Given the description of an element on the screen output the (x, y) to click on. 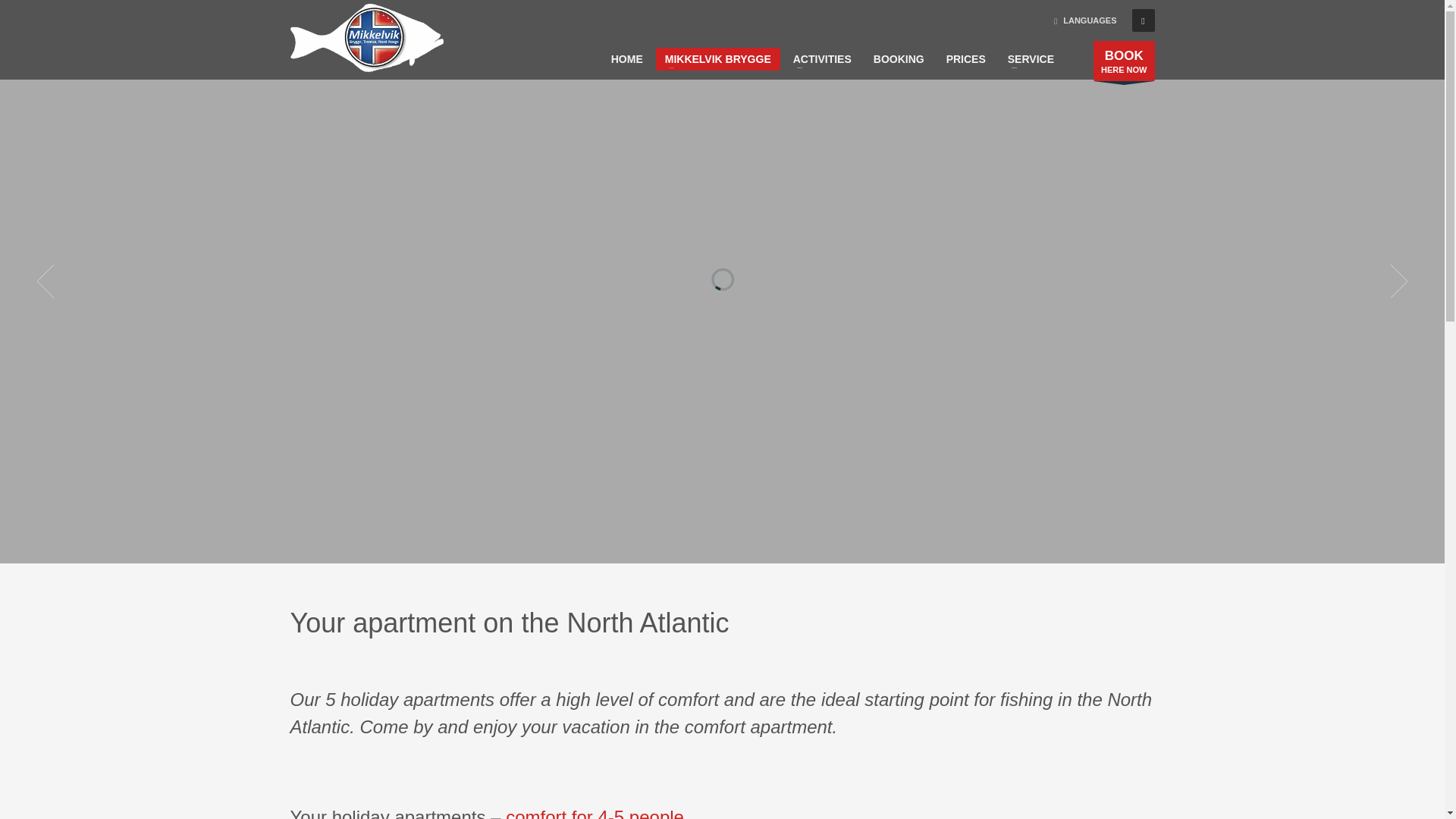
ACTIVITIES (822, 58)
HOME (627, 58)
MIKKELVIK BRYGGE (718, 58)
Hier gehts direkt zur ONLINE BUCHUNG (1123, 60)
Layout (594, 812)
BOOKING (898, 58)
LANGUAGES (1123, 60)
comfort for 4-5 people (1085, 20)
PRICES (594, 812)
